Given the description of an element on the screen output the (x, y) to click on. 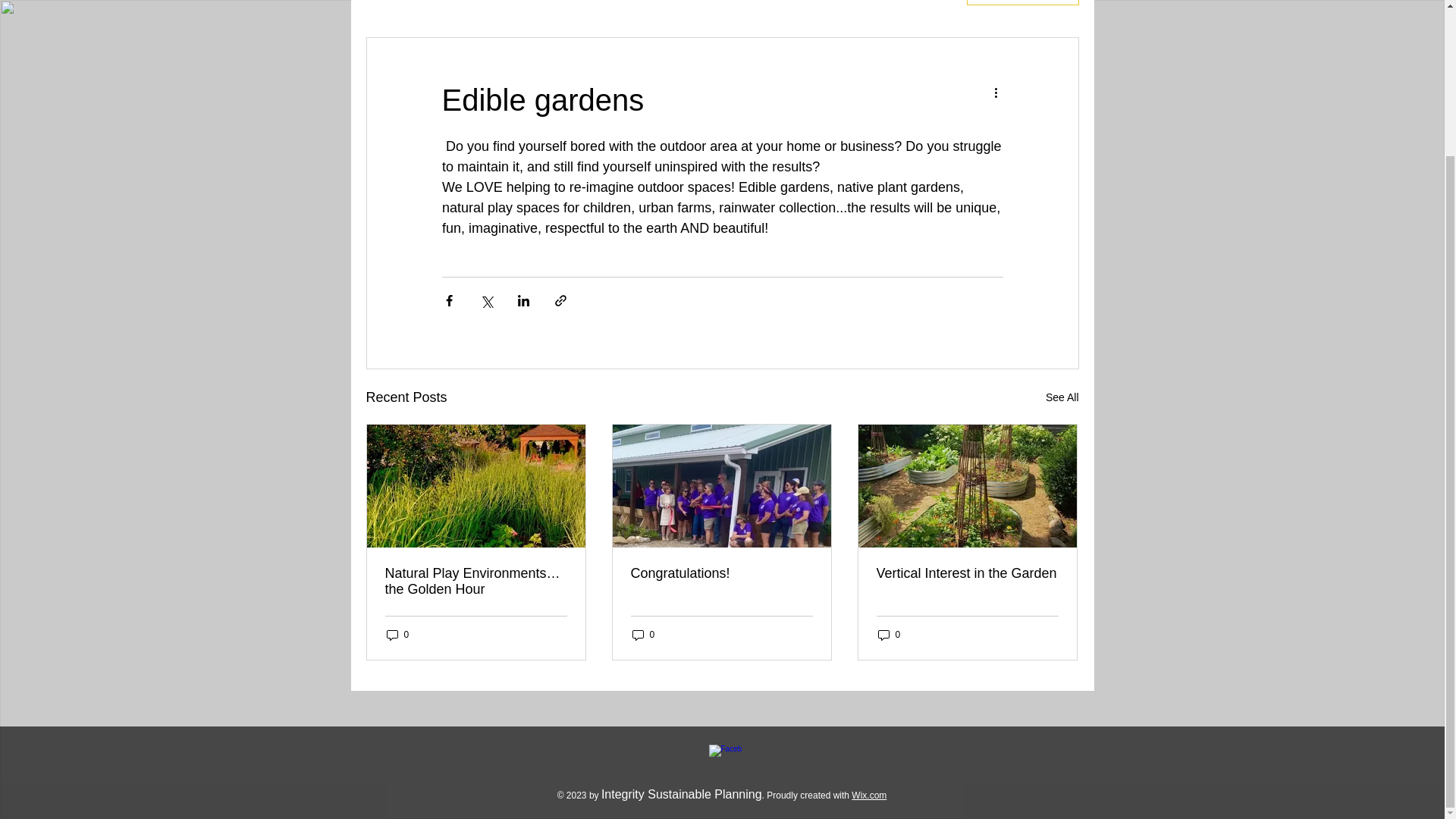
Vertical Interest in the Garden (967, 573)
Congratulations! (721, 573)
See All (1061, 397)
0 (397, 635)
0 (643, 635)
Wix.com (868, 795)
0 (889, 635)
